Given the description of an element on the screen output the (x, y) to click on. 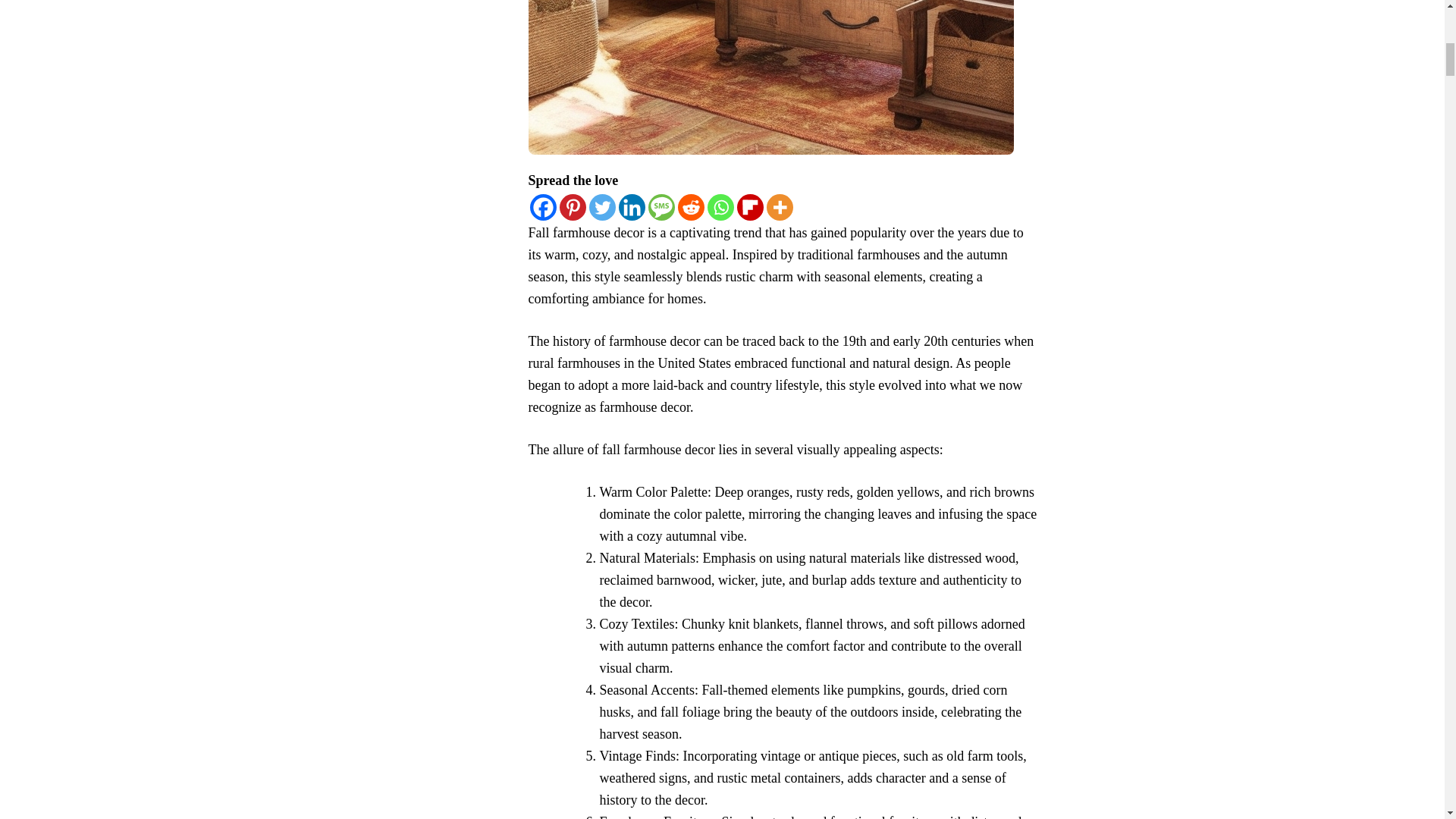
More (778, 207)
Reddit (691, 207)
Facebook (542, 207)
Twitter (601, 207)
Pinterest (572, 207)
Flipboard (749, 207)
Whatsapp (719, 207)
SMS (660, 207)
Linkedin (631, 207)
